Given the description of an element on the screen output the (x, y) to click on. 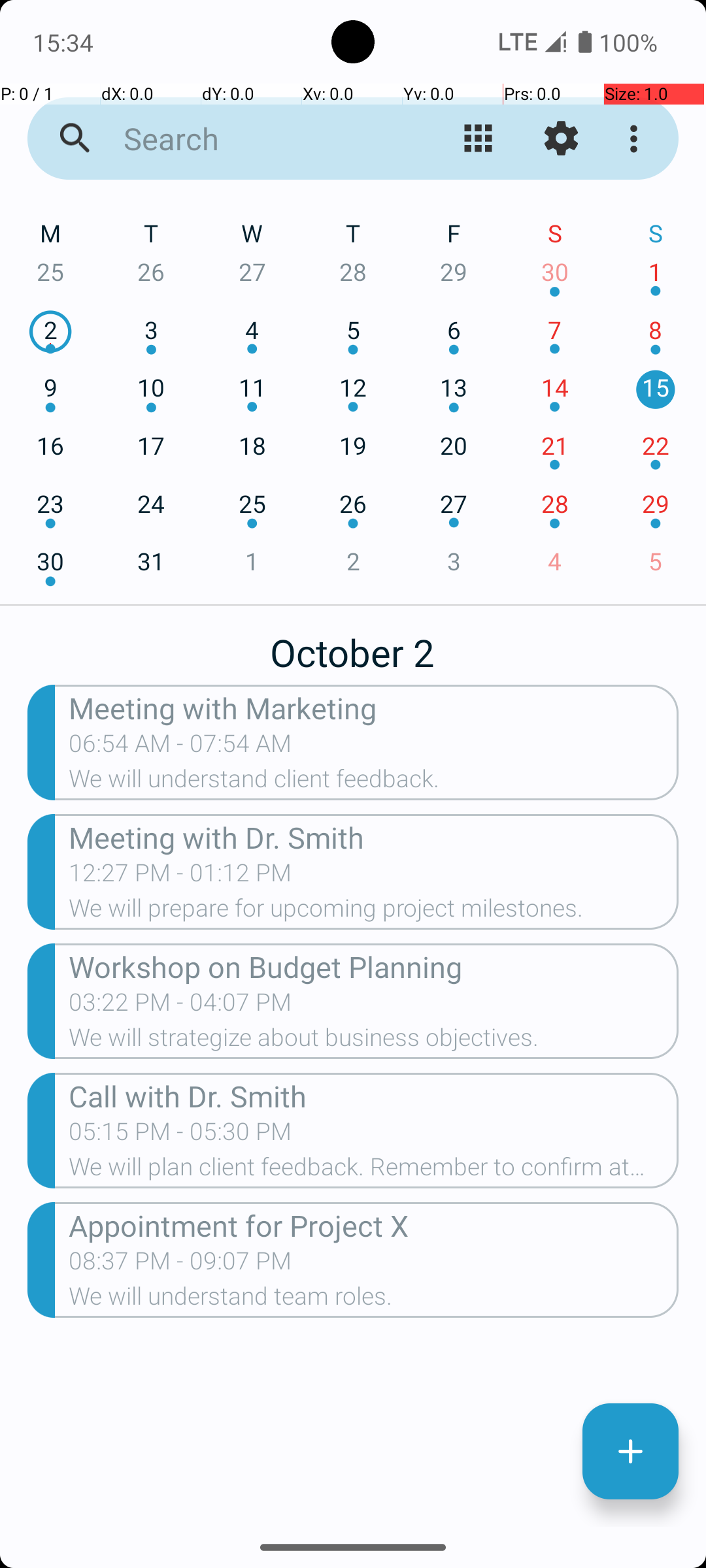
October 2 Element type: android.widget.TextView (352, 644)
06:54 AM - 07:54 AM Element type: android.widget.TextView (179, 747)
We will understand client feedback. Element type: android.widget.TextView (373, 782)
12:27 PM - 01:12 PM Element type: android.widget.TextView (179, 876)
We will prepare for upcoming project milestones. Element type: android.widget.TextView (373, 911)
03:22 PM - 04:07 PM Element type: android.widget.TextView (179, 1005)
We will strategize about business objectives. Element type: android.widget.TextView (373, 1041)
05:15 PM - 05:30 PM Element type: android.widget.TextView (179, 1135)
We will plan client feedback. Remember to confirm attendance. Element type: android.widget.TextView (373, 1170)
08:37 PM - 09:07 PM Element type: android.widget.TextView (179, 1264)
We will understand team roles. Element type: android.widget.TextView (373, 1299)
